Given the description of an element on the screen output the (x, y) to click on. 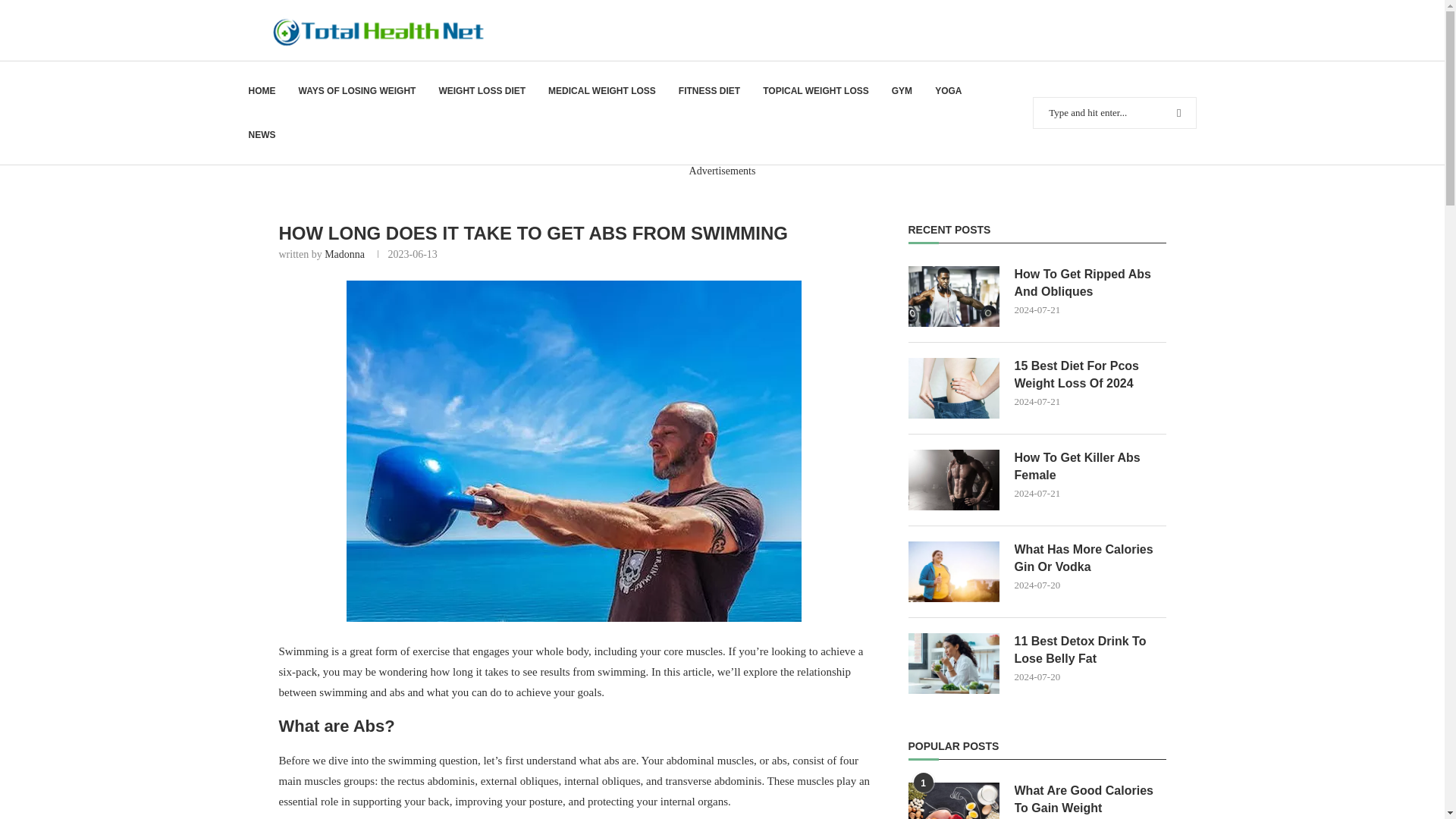
WEIGHT LOSS DIET (481, 90)
How To Get Killer Abs Female (1090, 466)
MEDICAL WEIGHT LOSS (602, 90)
How To Get Killer Abs Female (953, 479)
TOPICAL WEIGHT LOSS (815, 90)
WAYS OF LOSING WEIGHT (357, 90)
How To Get Ripped Abs And Obliques (1090, 283)
15 Best Diet For Pcos Weight Loss Of 2024 (953, 387)
15 Best Diet For Pcos Weight Loss Of 2024 (1090, 374)
FITNESS DIET (708, 90)
How To Get Ripped Abs And Obliques (953, 296)
What Has More Calories Gin Or Vodka (953, 571)
